Given the description of an element on the screen output the (x, y) to click on. 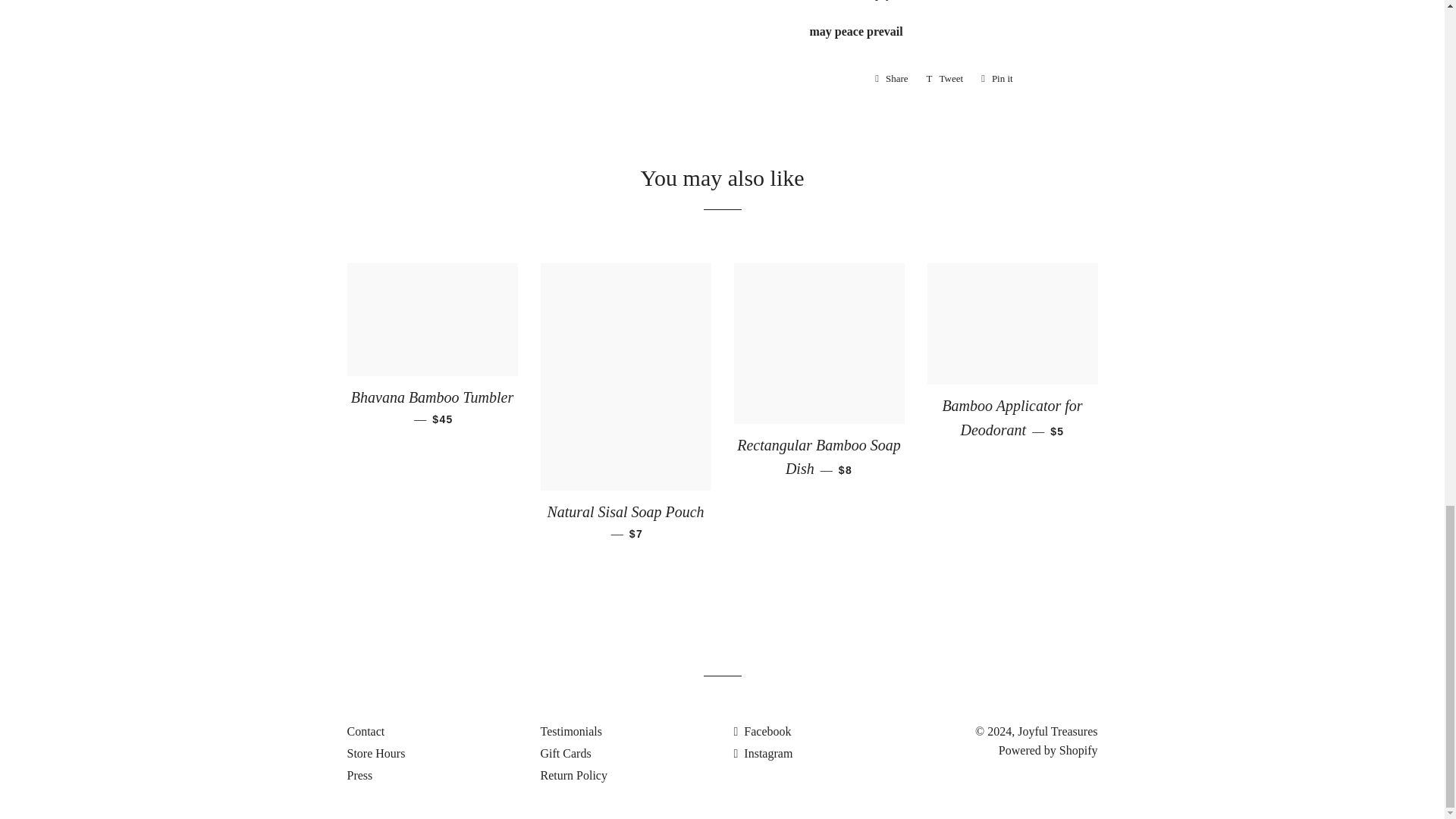
Joyful Treasures  on Instagram (891, 78)
Tweet on Twitter (763, 753)
Share on Facebook (944, 78)
Joyful Treasures  on Facebook (944, 78)
Pin on Pinterest (891, 78)
